Given the description of an element on the screen output the (x, y) to click on. 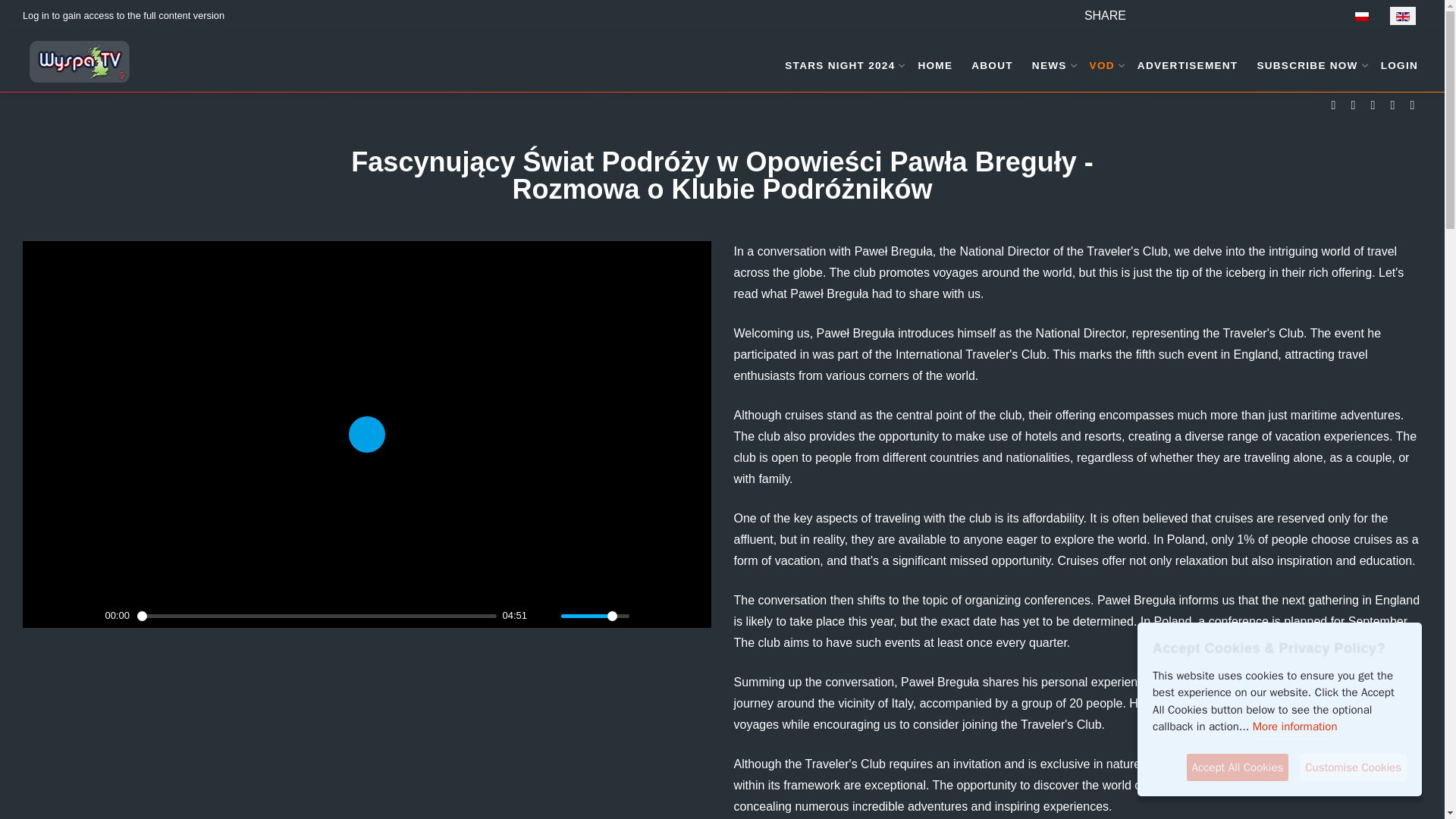
Instagram (1392, 104)
LinkedIn (1412, 104)
Instagram (1392, 104)
ADVERTISEMENT (1187, 61)
SUBSCRIBE NOW (1308, 61)
ABOUT (992, 61)
Youtube (1371, 104)
HOME (935, 61)
NEWS (1050, 61)
